Given the description of an element on the screen output the (x, y) to click on. 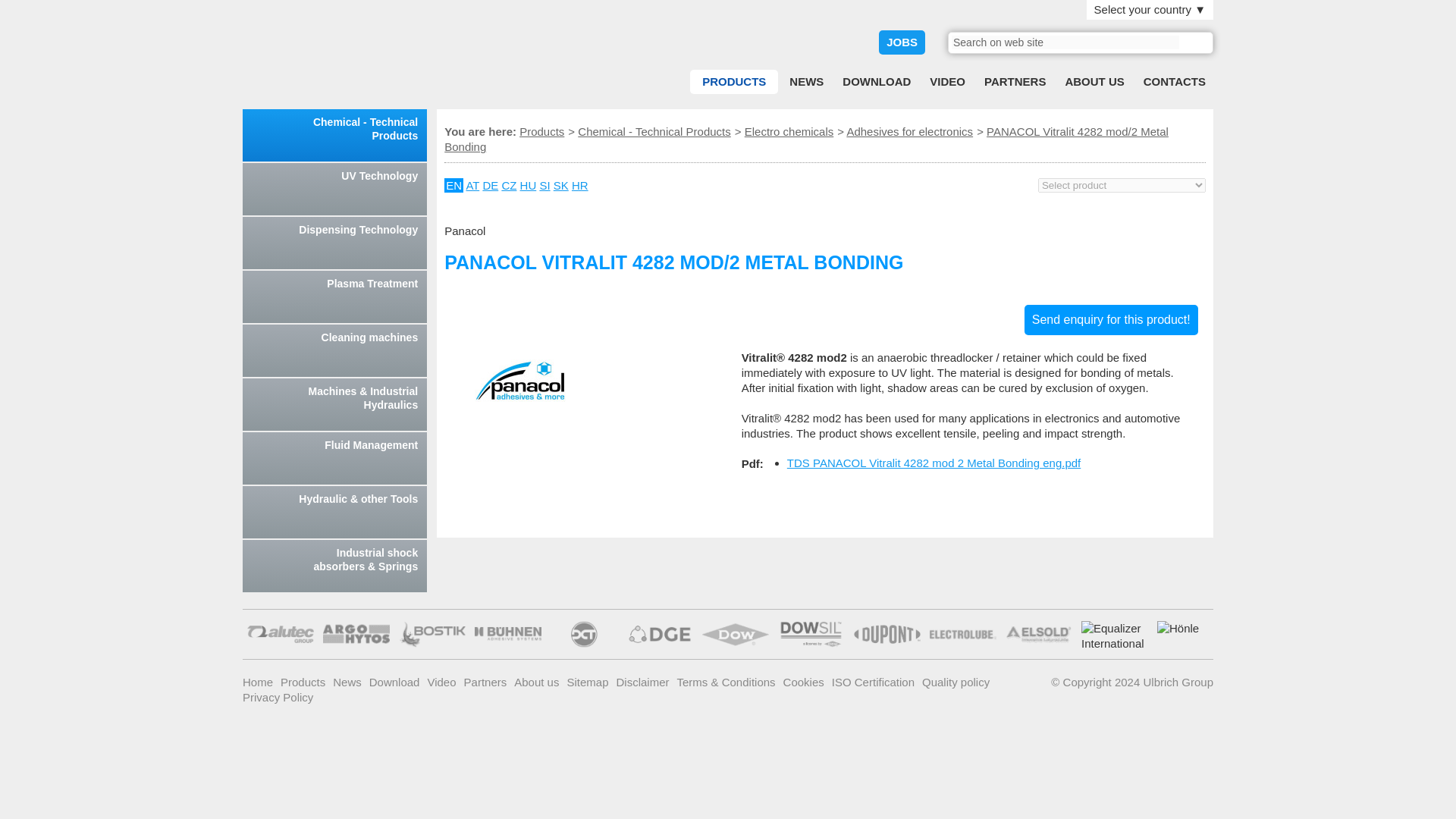
UV Technology (334, 188)
Partners (1014, 81)
NEWS (806, 81)
Download (876, 81)
JOBS (901, 42)
News (806, 81)
About us (1094, 81)
Cleaning machines (334, 350)
PRODUCTS (733, 81)
Video (946, 81)
